Given the description of an element on the screen output the (x, y) to click on. 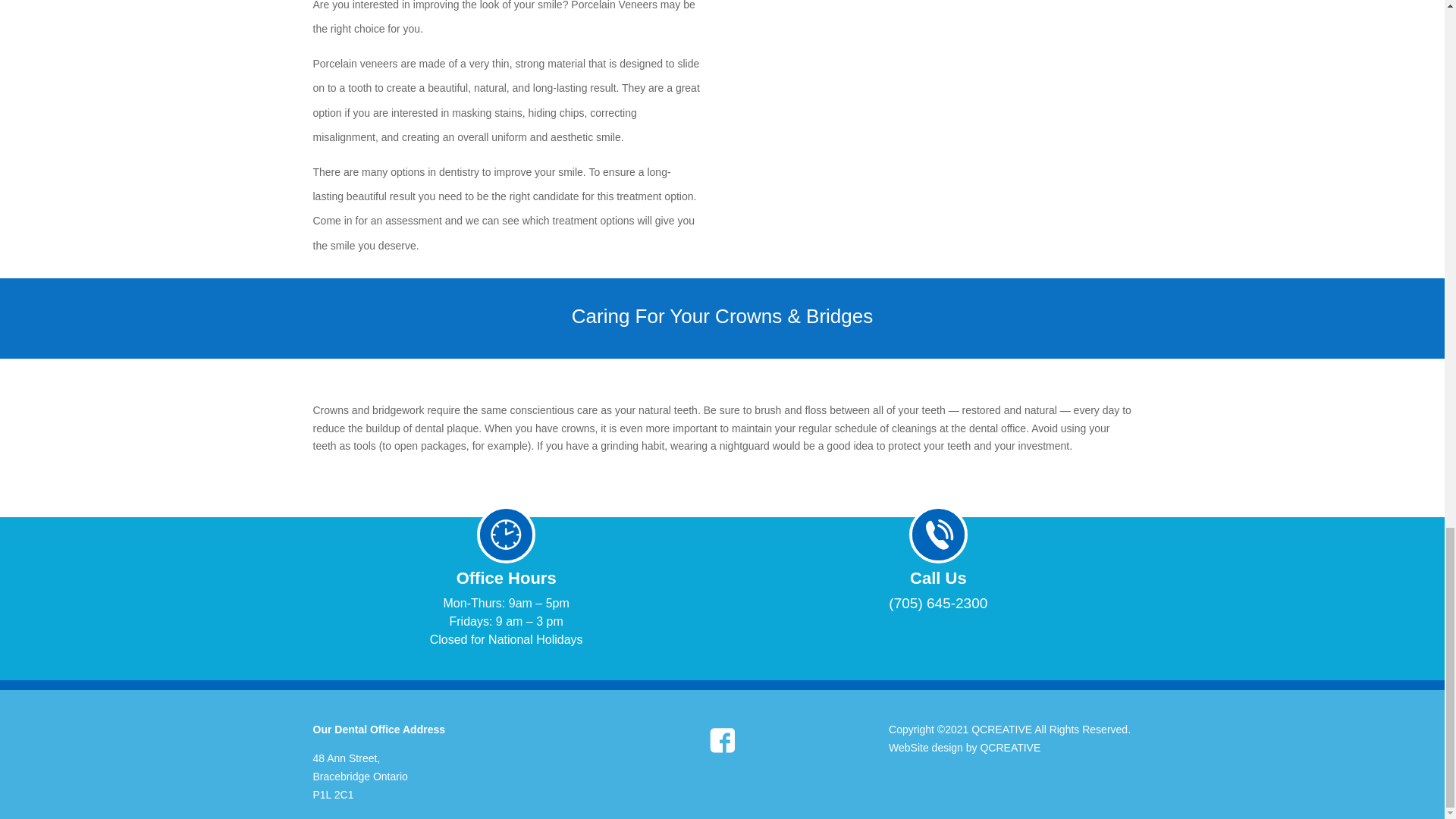
Join us on facebook (721, 740)
